Given the description of an element on the screen output the (x, y) to click on. 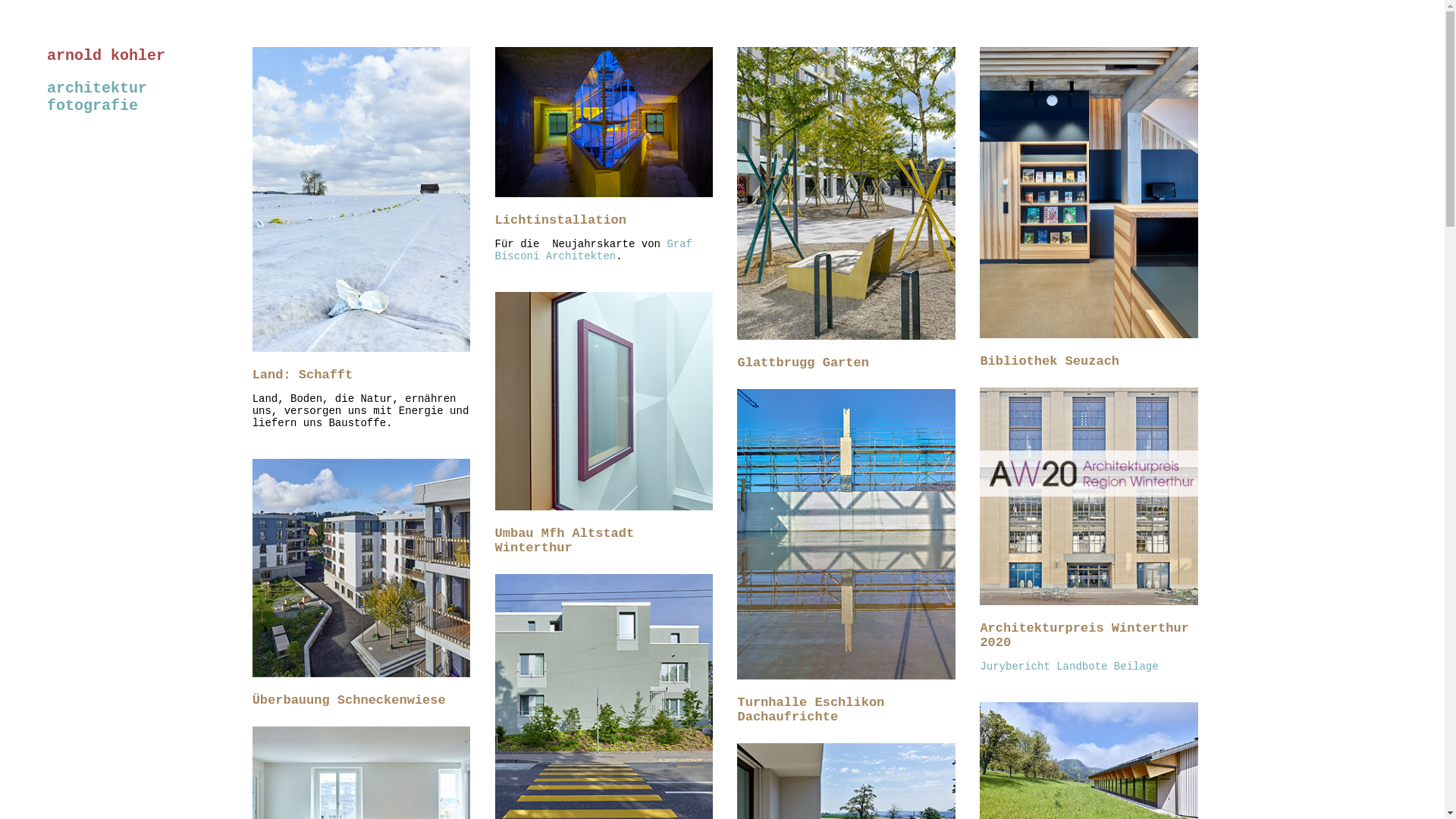
Umbau Mfh Altstadt Winterthur Element type: text (564, 540)
Land: Schafft Element type: text (302, 374)
Architekturpreis Winterthur 2020 Element type: text (1083, 635)
Jurybericht Landbote Beilage Element type: text (1068, 666)
arnold kohler Element type: text (86, 55)
Graf Bisconi Architekten Element type: text (593, 250)
  Element type: text (1161, 666)
Turnhalle Eschlikon Dachaufrichte Element type: text (810, 709)
  Element type: text (6, 128)
Glattbrugg Garten Element type: text (802, 362)
Lichtinstallation Element type: text (560, 220)
architektur
fotografie Element type: text (97, 96)
Bibliothek Seuzach Element type: text (1049, 361)
